Given the description of an element on the screen output the (x, y) to click on. 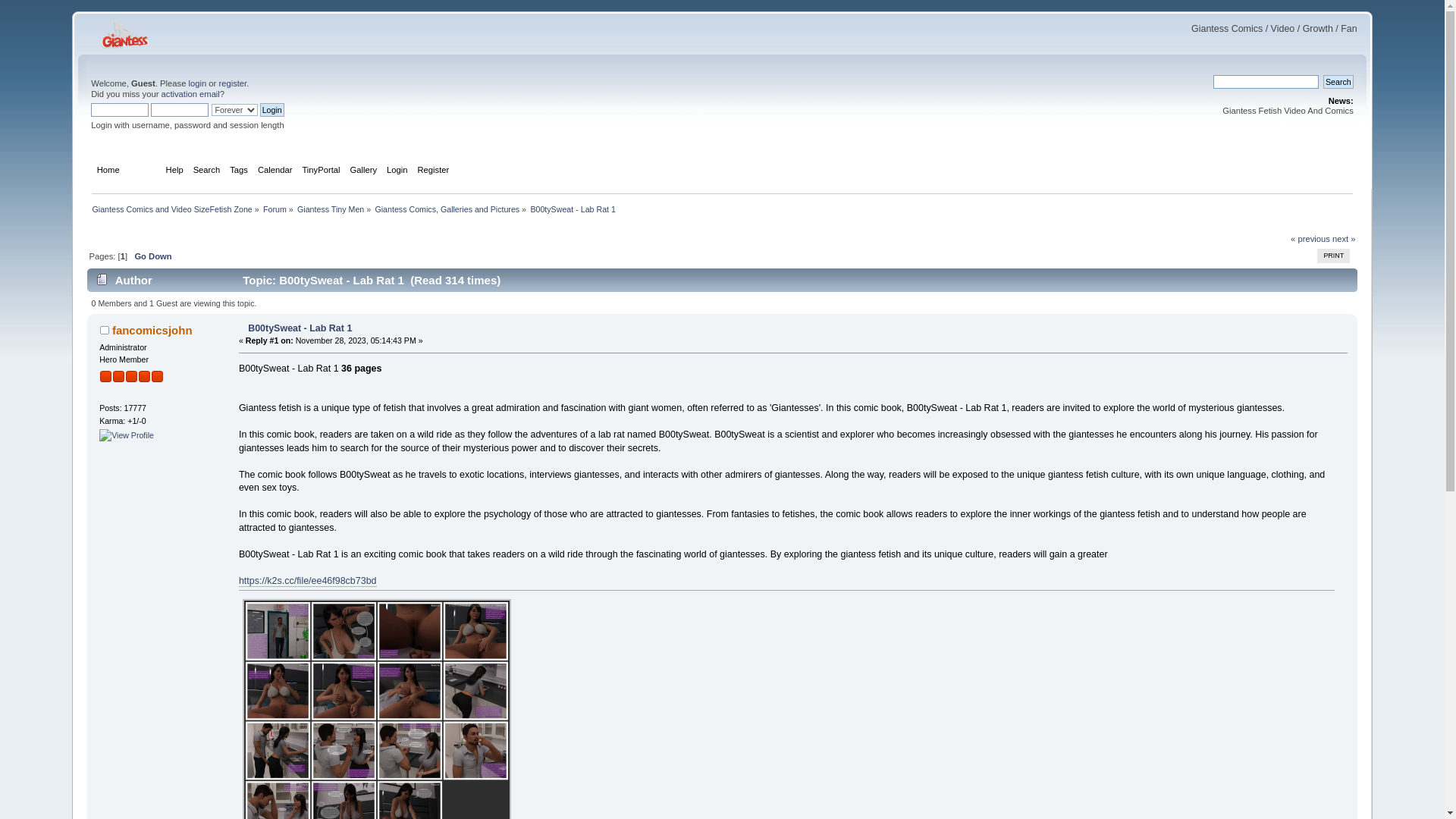
Calendar (277, 170)
fancomicsjohn (152, 329)
Forum (144, 170)
Login (398, 170)
PRINT (1333, 255)
Search (208, 170)
Giantess Comics, Galleries and Pictures (446, 208)
Home (110, 170)
Tags (240, 170)
Login (271, 110)
